Given the description of an element on the screen output the (x, y) to click on. 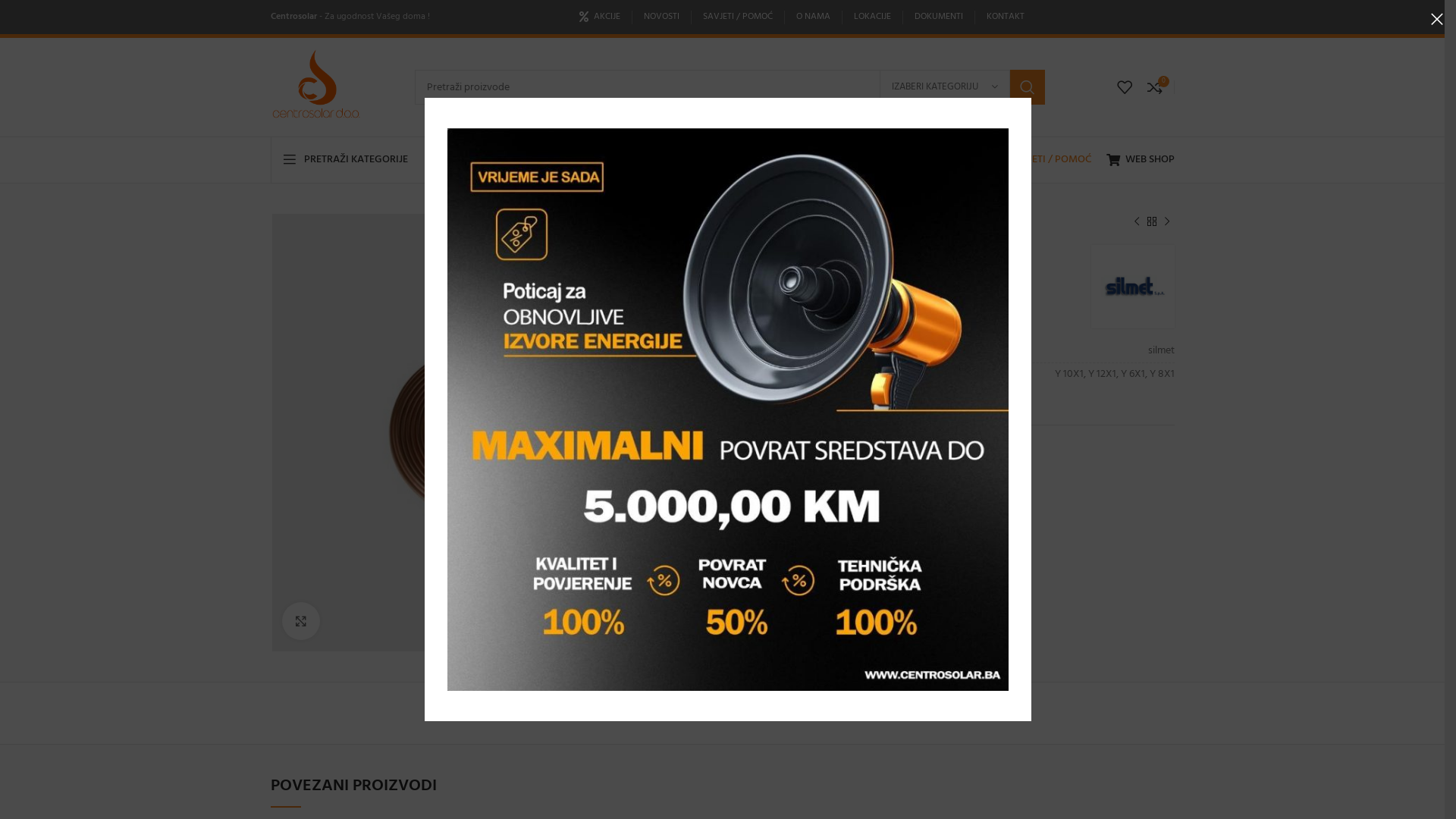
silmet Element type: hover (1132, 286)
BLOG Element type: text (788, 159)
cijev-za-klime Element type: hover (490, 432)
Molimo vas prijavite se Element type: text (798, 301)
REFERENCE Element type: text (851, 159)
Grijanje Element type: text (803, 221)
Bakarne cijevi Element type: text (818, 472)
Cijevi Element type: text (868, 472)
Uporedi Element type: text (760, 402)
u kolutu Element type: text (834, 496)
WEB SHOP Element type: text (1139, 159)
KONTAKT Element type: text (1005, 16)
IZABERI KATEGORIJU Element type: text (944, 86)
SEARCH Element type: text (1027, 86)
Bakarne cijevi Element type: text (899, 221)
NOVOSTI Element type: text (661, 16)
O NAMA Element type: text (813, 16)
LOKACIJE Element type: text (872, 16)
Grijanje Element type: text (905, 472)
KONTAKT Element type: text (921, 159)
AKCIJE Element type: text (599, 16)
Cijevi Element type: text (844, 221)
DOKUMENTI Element type: text (938, 16)
cijev cu Element type: text (790, 496)
0 Element type: text (1154, 87)
